Given the description of an element on the screen output the (x, y) to click on. 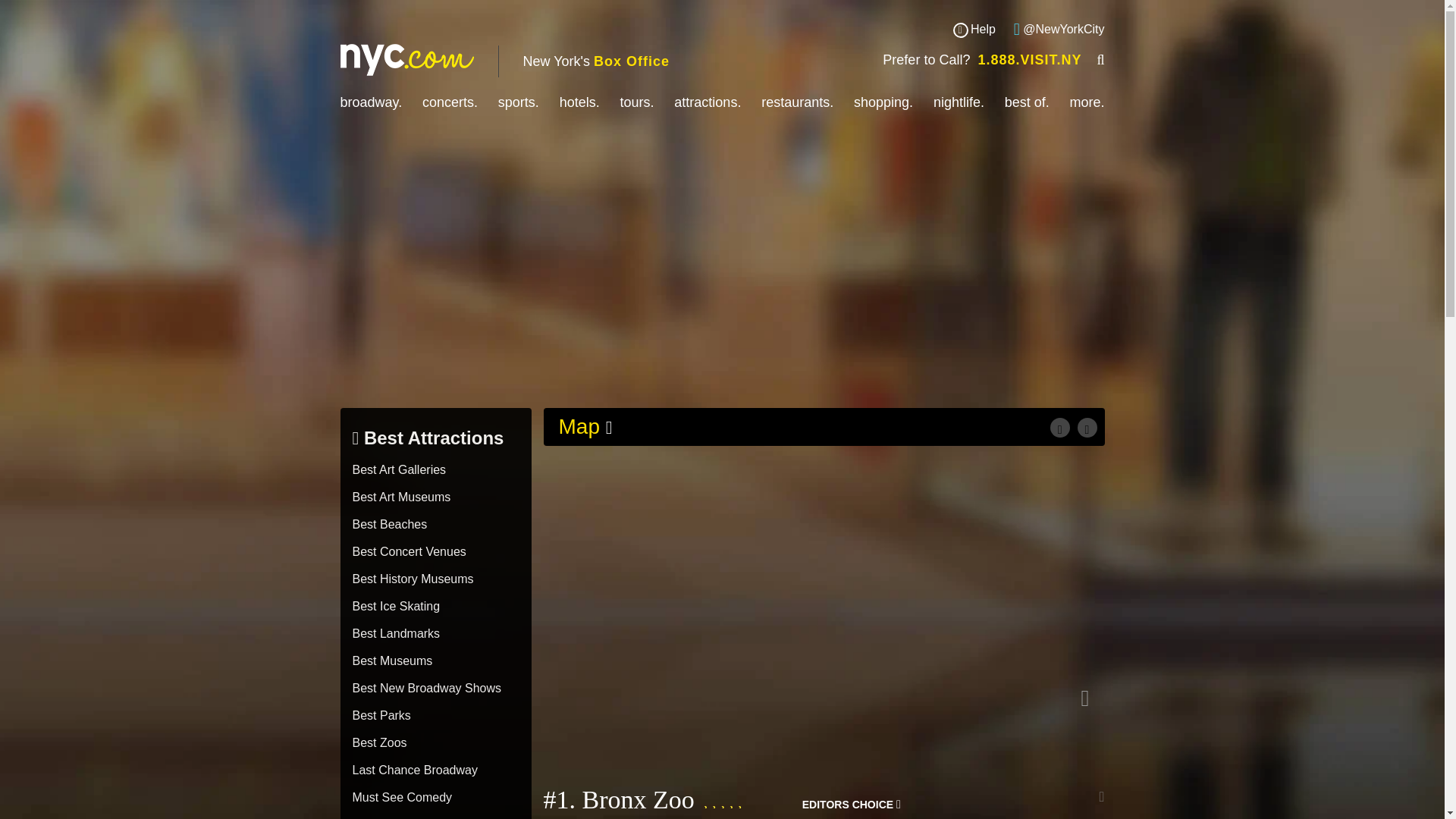
Help (984, 29)
Best Art Galleries (398, 469)
sports. (517, 102)
more. (1087, 102)
Best Art Museums (400, 496)
attractions. (707, 102)
broadway. (370, 102)
best of. (1026, 102)
restaurants. (796, 102)
nightlife. (958, 102)
Best Attractions (427, 437)
concerts. (449, 102)
hotels. (579, 102)
shopping. (882, 102)
tours. (636, 102)
